Given the description of an element on the screen output the (x, y) to click on. 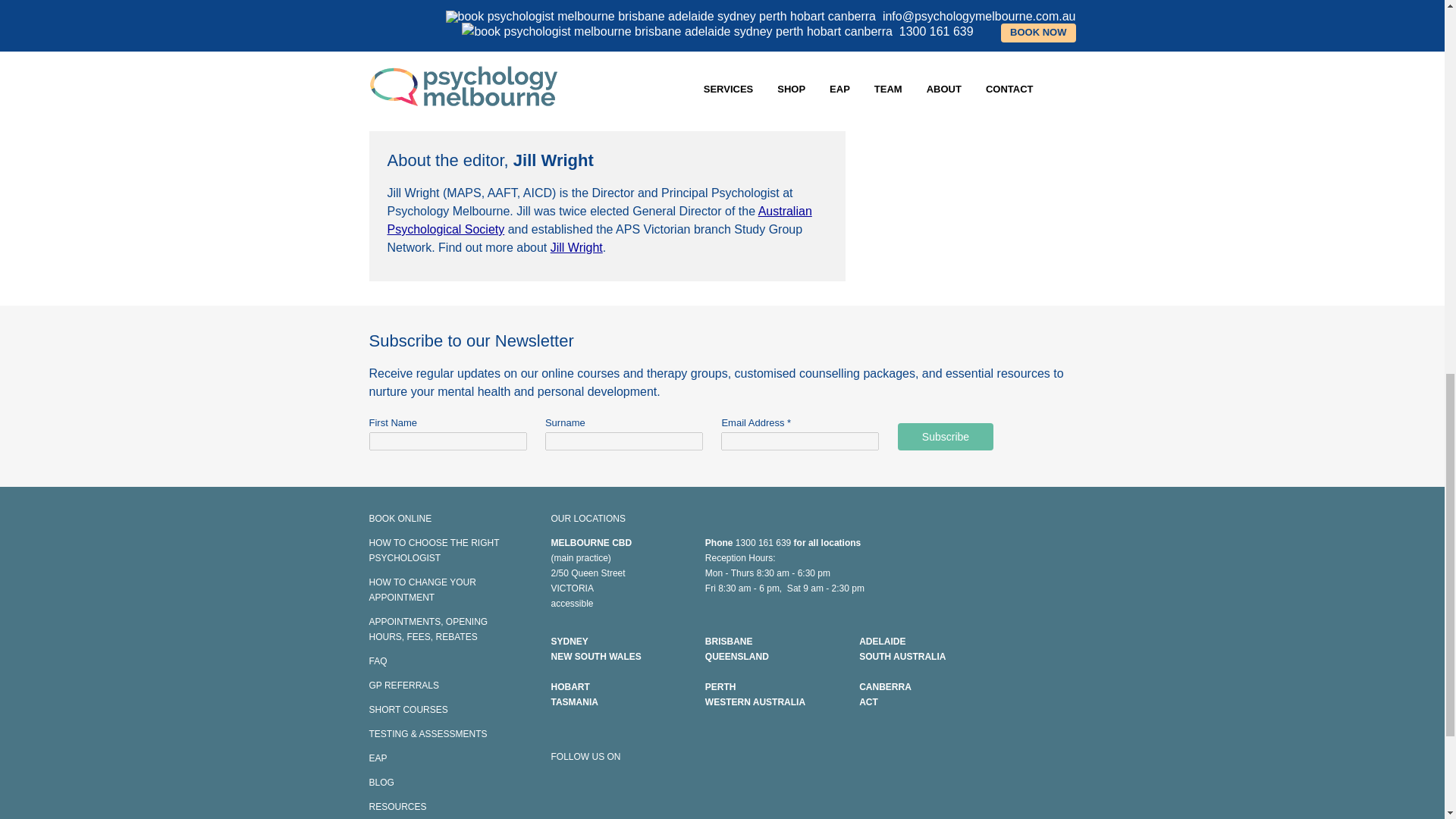
Subscribe (945, 436)
